Given the description of an element on the screen output the (x, y) to click on. 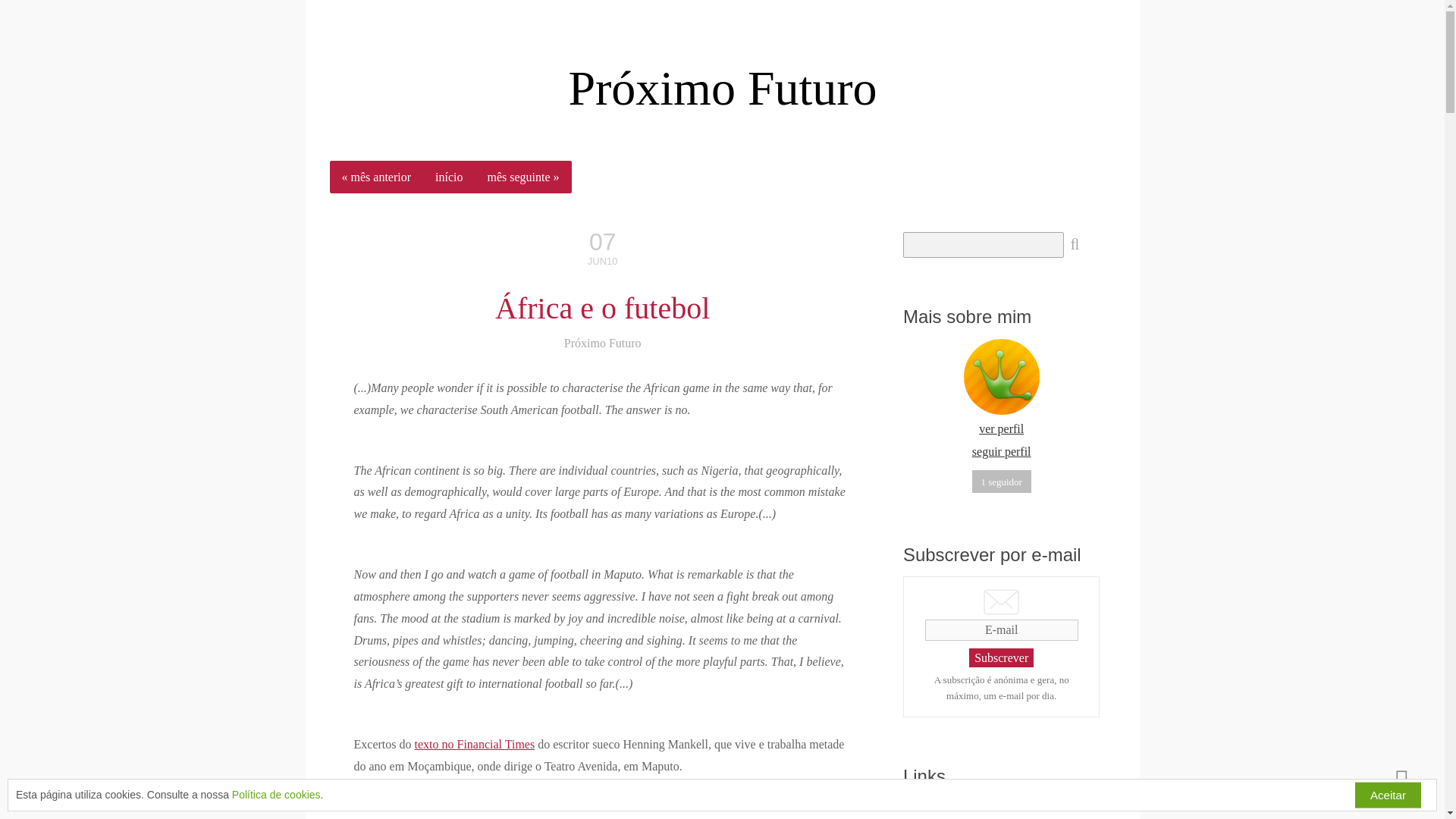
mundial de futebol (436, 797)
Voltar ao topo (1401, 776)
texto no Financial Times (473, 744)
inicio do blog (721, 88)
E-mail (1001, 629)
Subscrever (1001, 657)
